Given the description of an element on the screen output the (x, y) to click on. 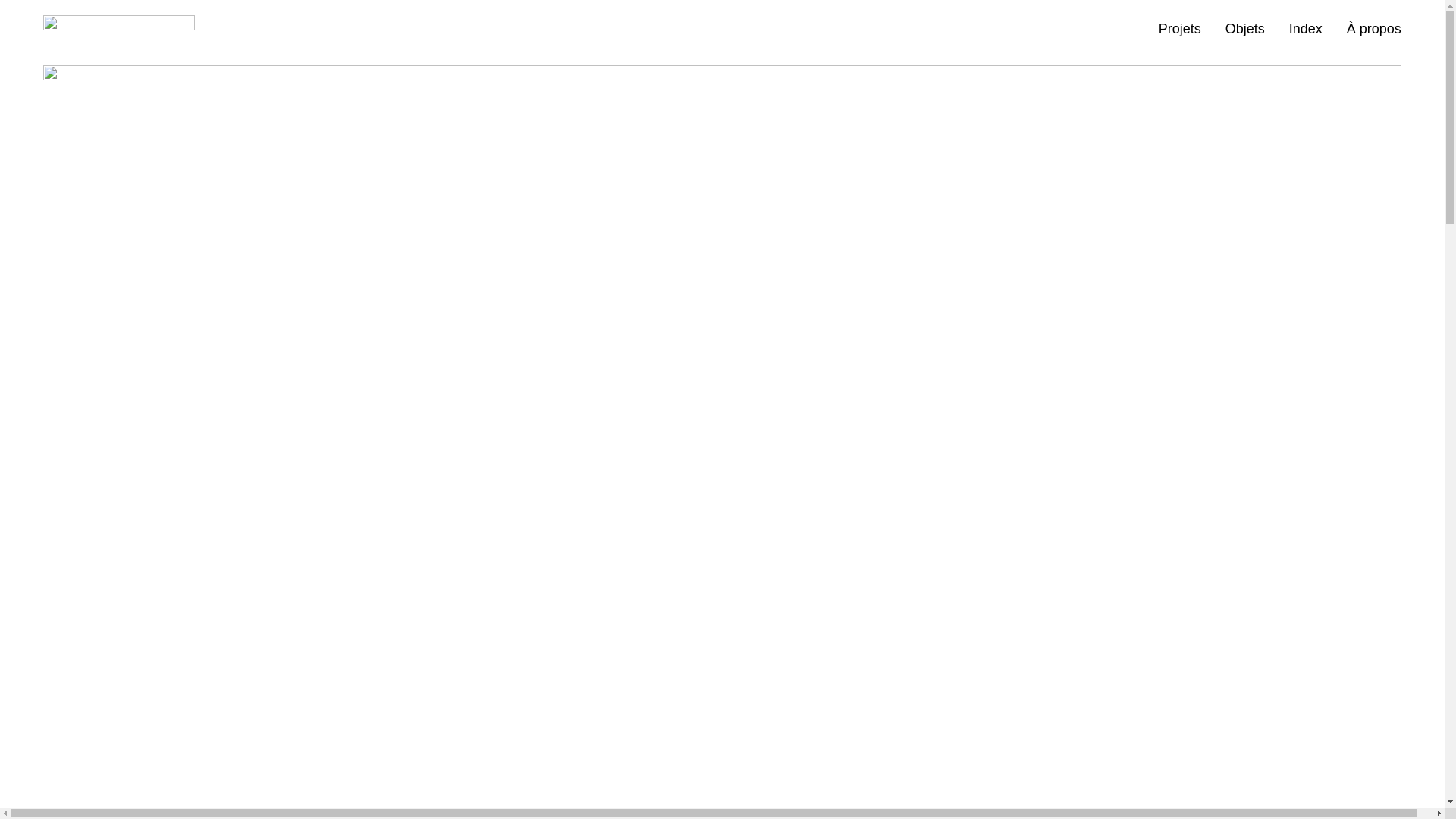
Projets Element type: text (1179, 28)
Index Element type: text (1305, 28)
Objets Element type: text (1244, 28)
